Given the description of an element on the screen output the (x, y) to click on. 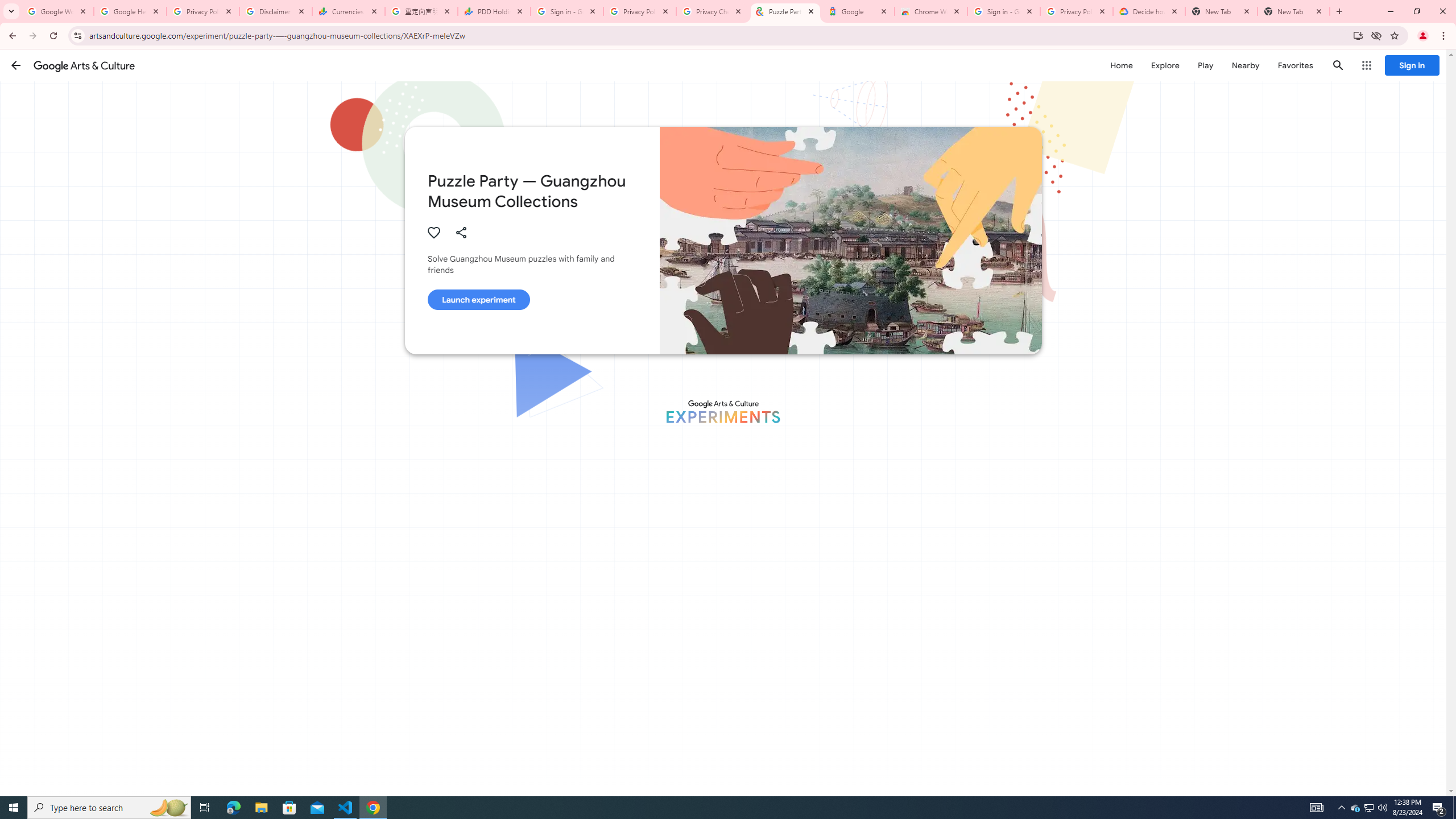
Google Arts & Culture Experiments (722, 411)
Difficult (798, 778)
Close Experiment (1423, 71)
Favorites (1295, 65)
Medium (716, 778)
Chrome Web Store - Color themes by Chrome (930, 11)
